Given the description of an element on the screen output the (x, y) to click on. 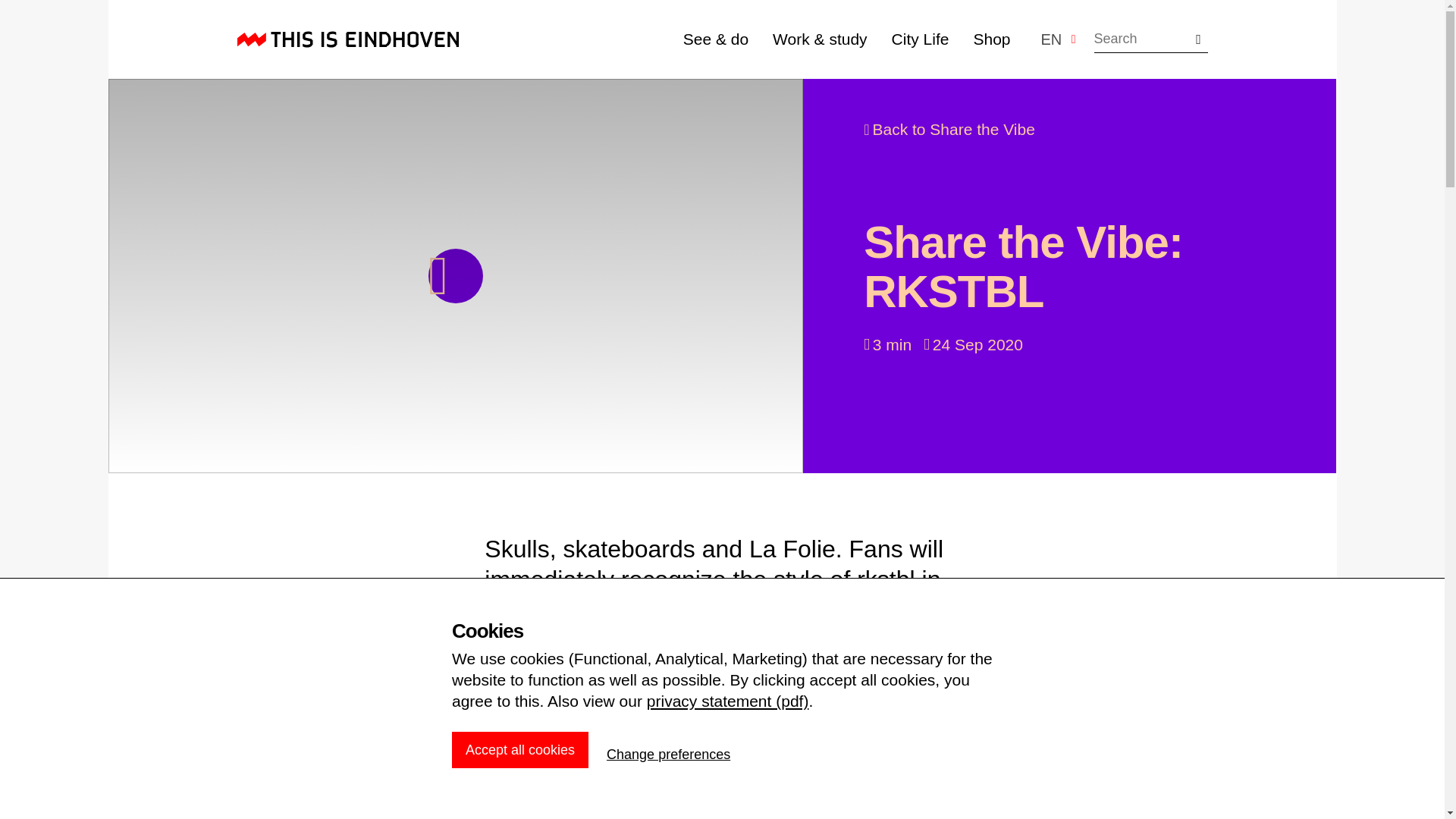
Share the Vibe (949, 129)
City Life (920, 38)
Shop (991, 38)
RKSTBL (722, 805)
Back to the home page (346, 39)
